Given the description of an element on the screen output the (x, y) to click on. 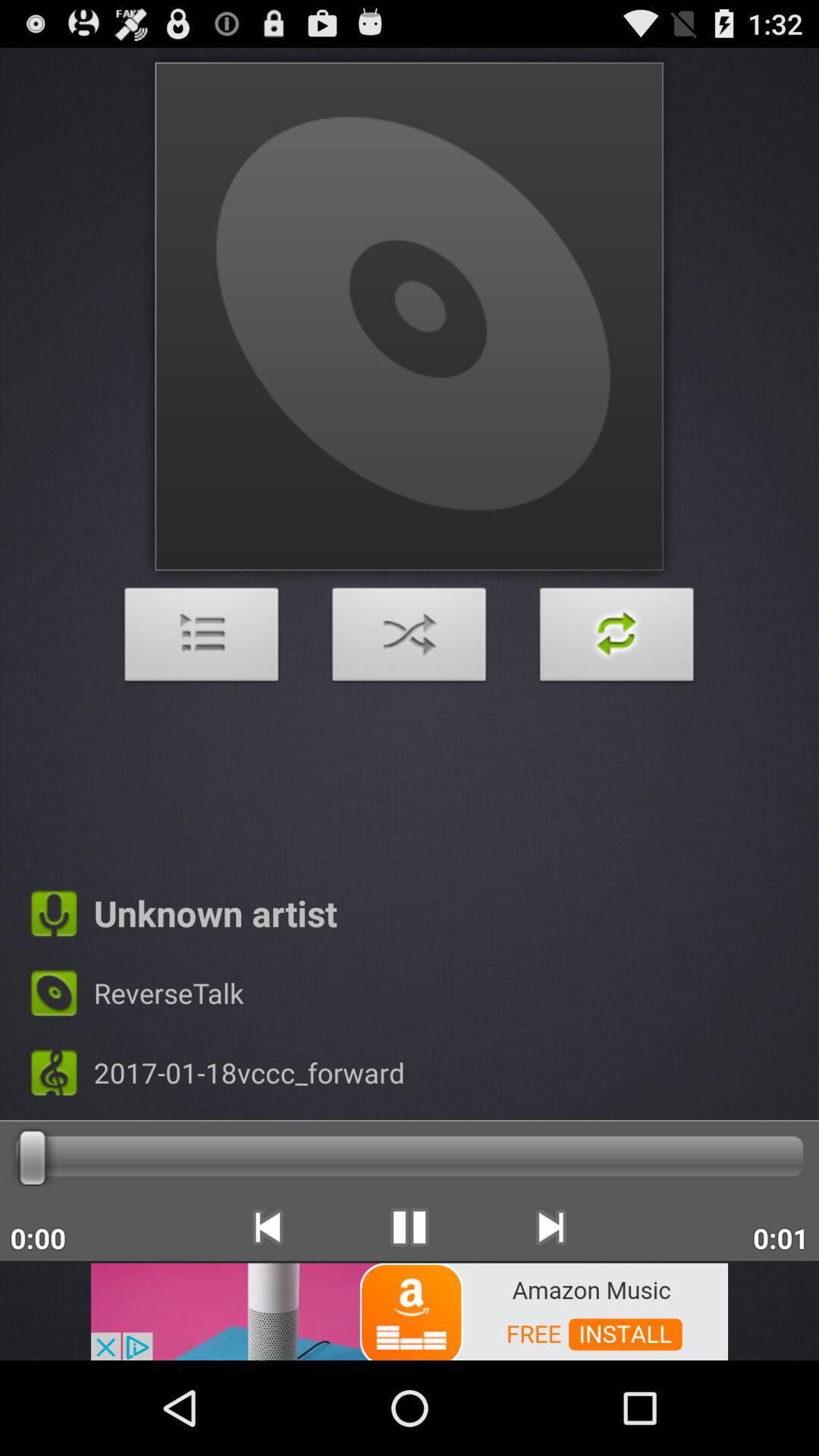
repetition (616, 638)
